Given the description of an element on the screen output the (x, y) to click on. 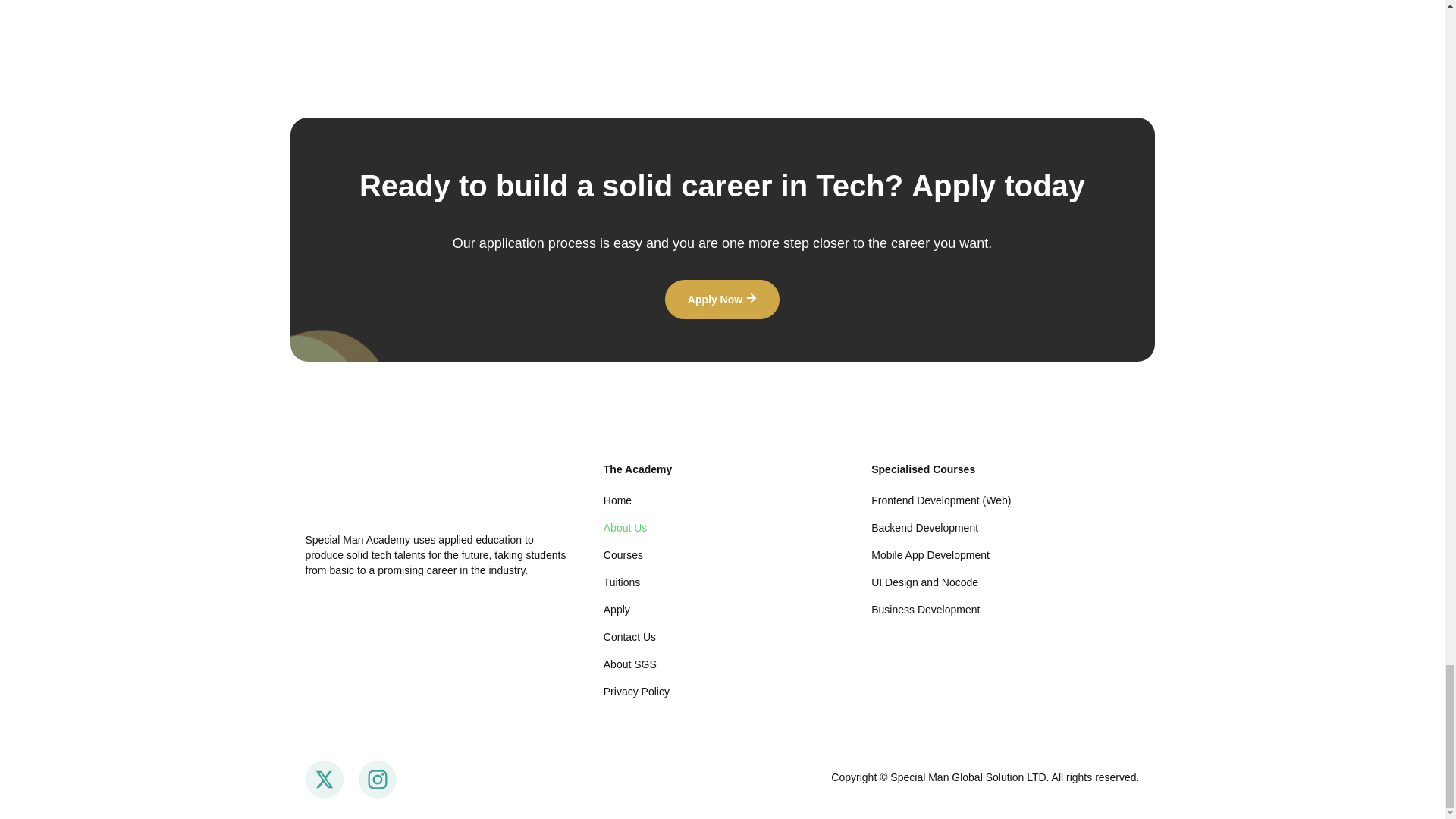
Courses (722, 554)
Tuitions (722, 581)
Home (722, 500)
Apply (722, 609)
About Us (722, 527)
Apply Now (721, 299)
